Given the description of an element on the screen output the (x, y) to click on. 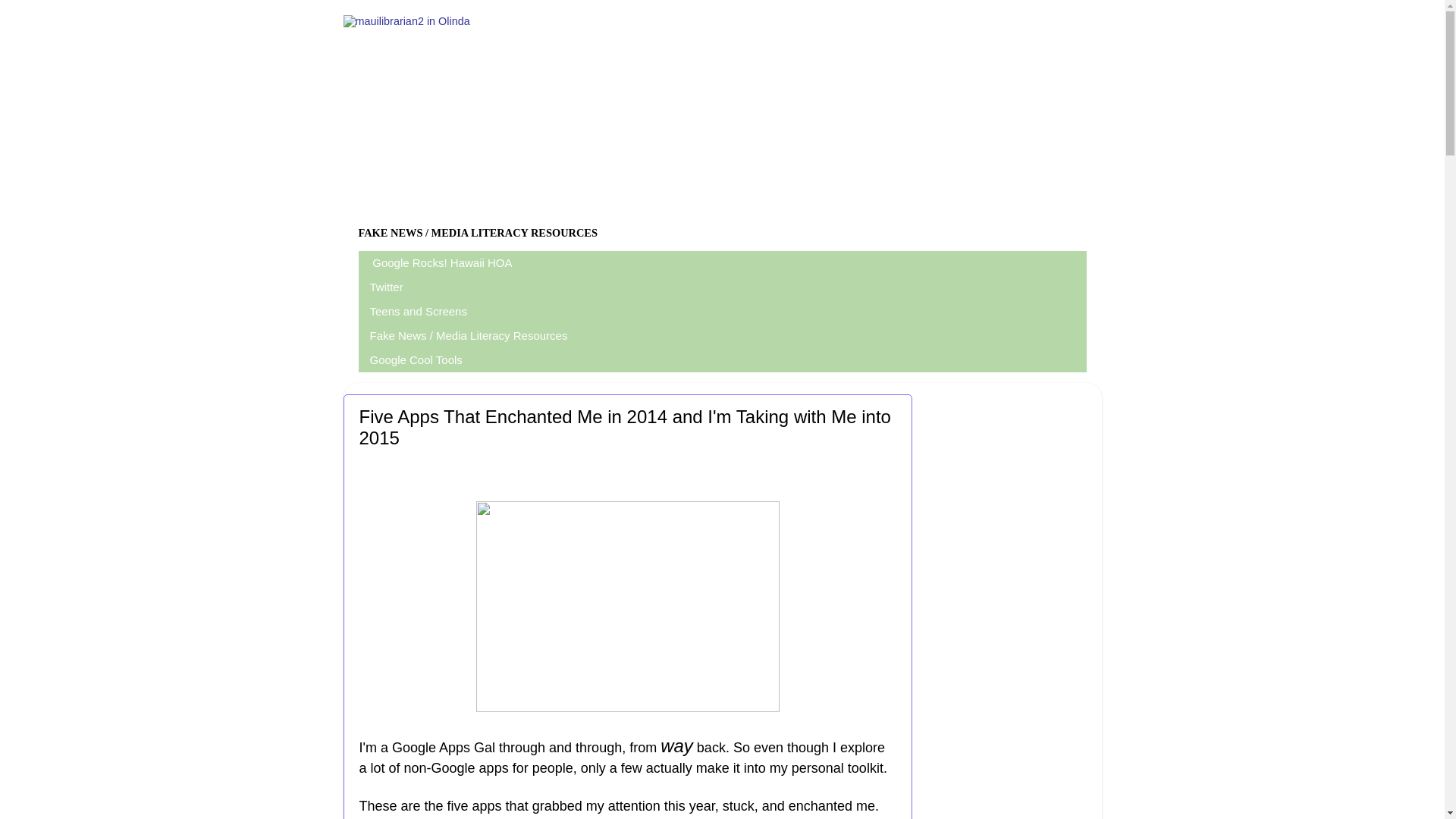
Google Rocks! Hawaii HOA (441, 262)
Twitter (386, 287)
Google Cool Tools (416, 360)
Teens and Screens (418, 311)
